Given the description of an element on the screen output the (x, y) to click on. 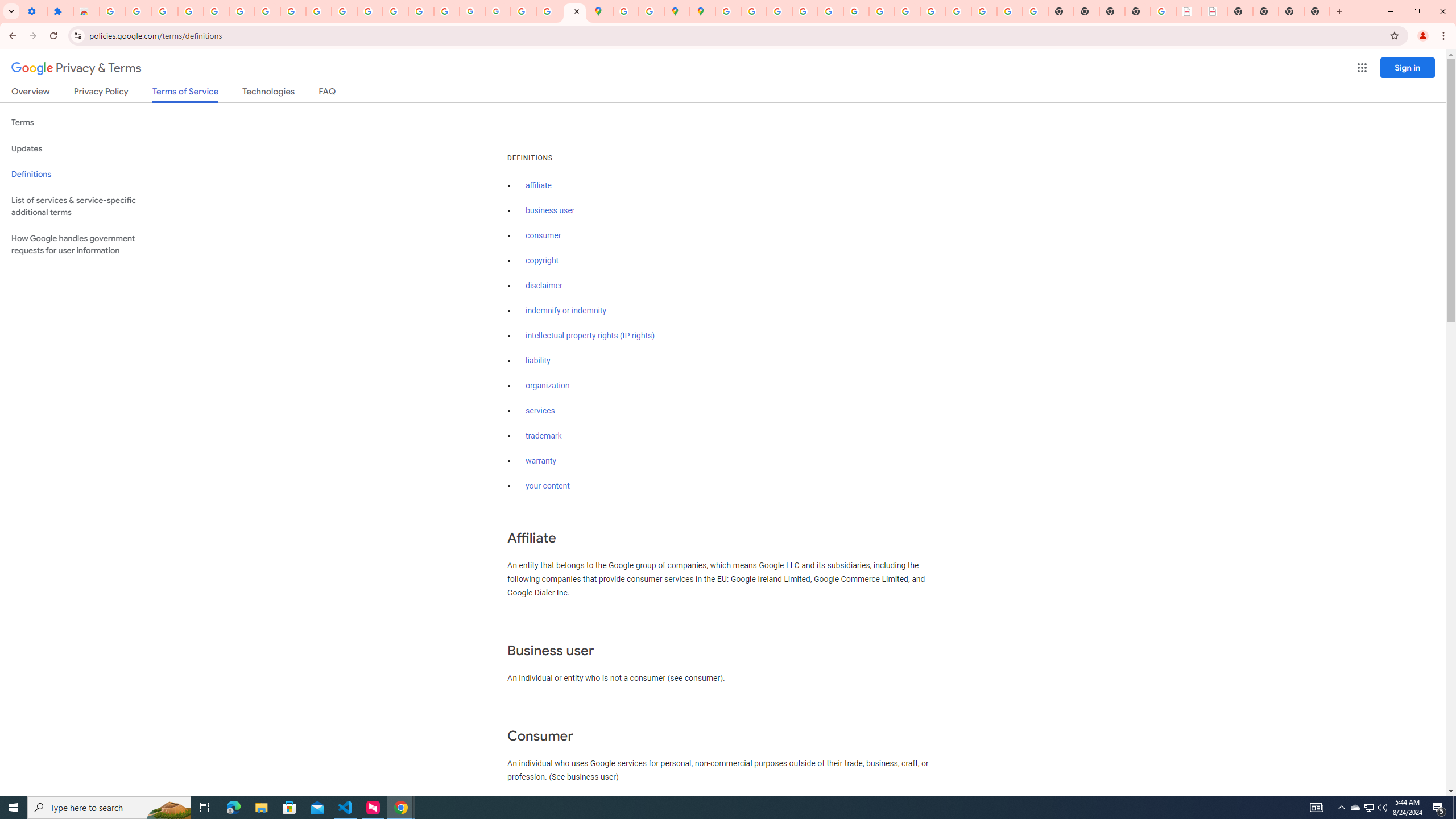
Reviews: Helix Fruit Jump Arcade Game (86, 11)
your content (547, 486)
organization (547, 385)
services (539, 411)
indemnify or indemnity (565, 311)
Google Account (293, 11)
YouTube (318, 11)
